Given the description of an element on the screen output the (x, y) to click on. 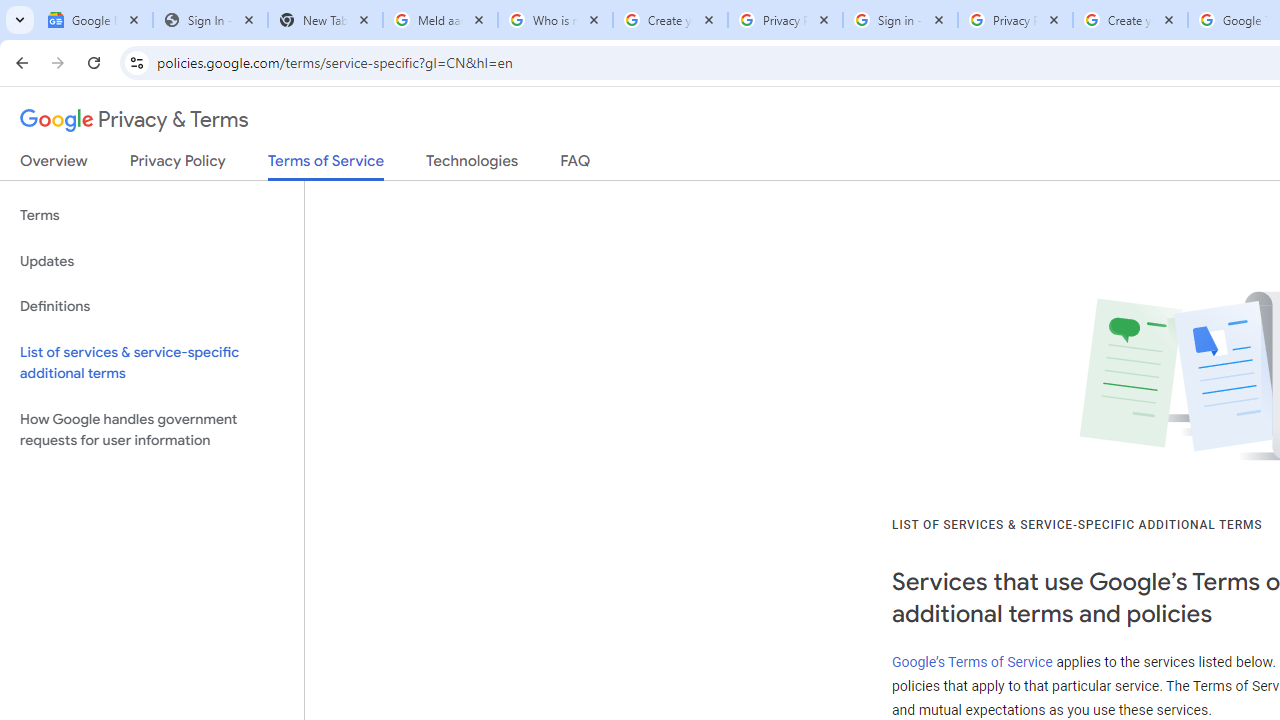
How Google handles government requests for user information (152, 429)
Sign in - Google Accounts (900, 20)
Create your Google Account (1129, 20)
New Tab (324, 20)
Who is my administrator? - Google Account Help (555, 20)
